Given the description of an element on the screen output the (x, y) to click on. 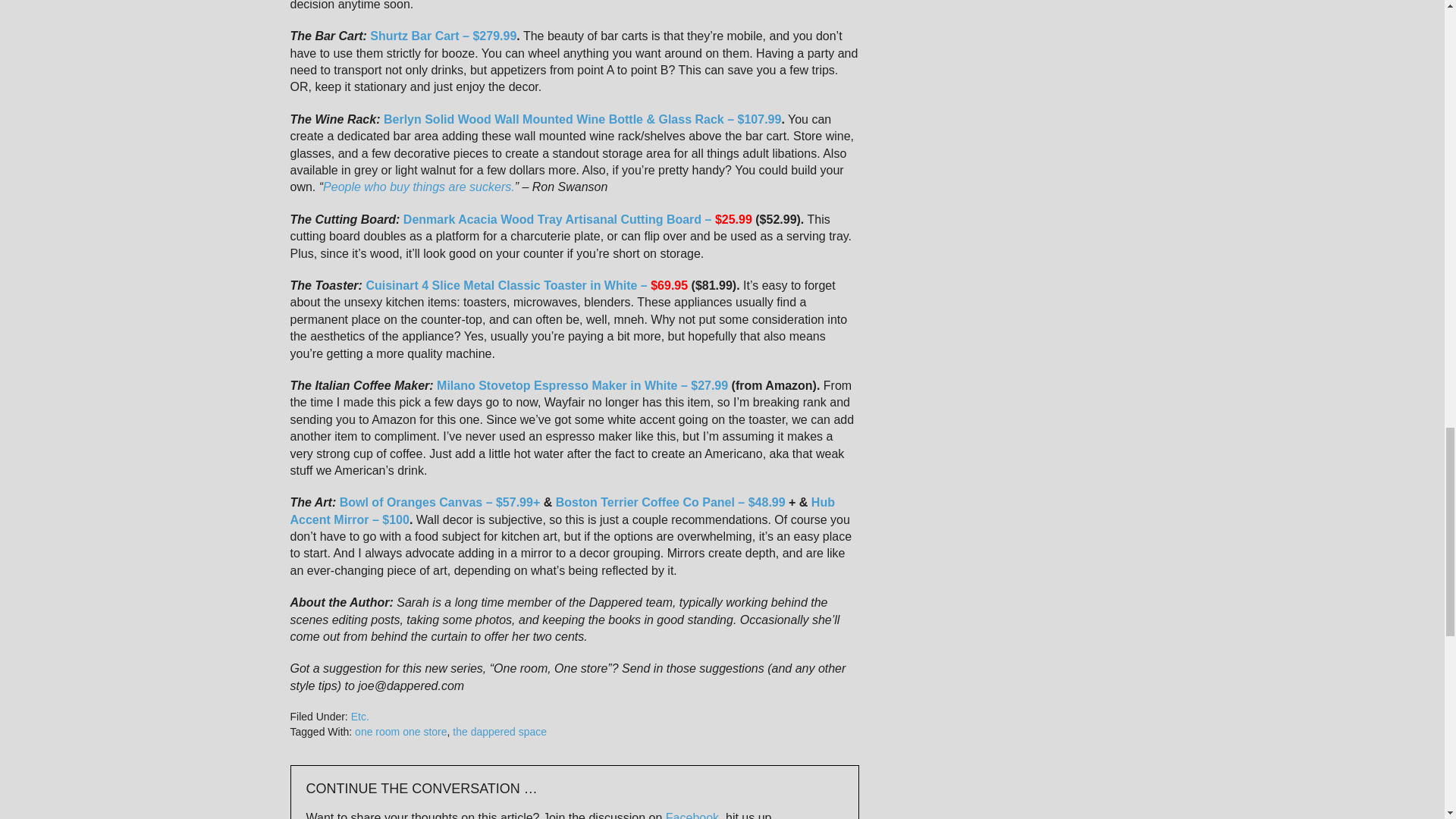
Facebook (692, 815)
Etc. (359, 716)
one room one store (400, 731)
People who buy things are suckers. (419, 186)
the dappered space (499, 731)
